Given the description of an element on the screen output the (x, y) to click on. 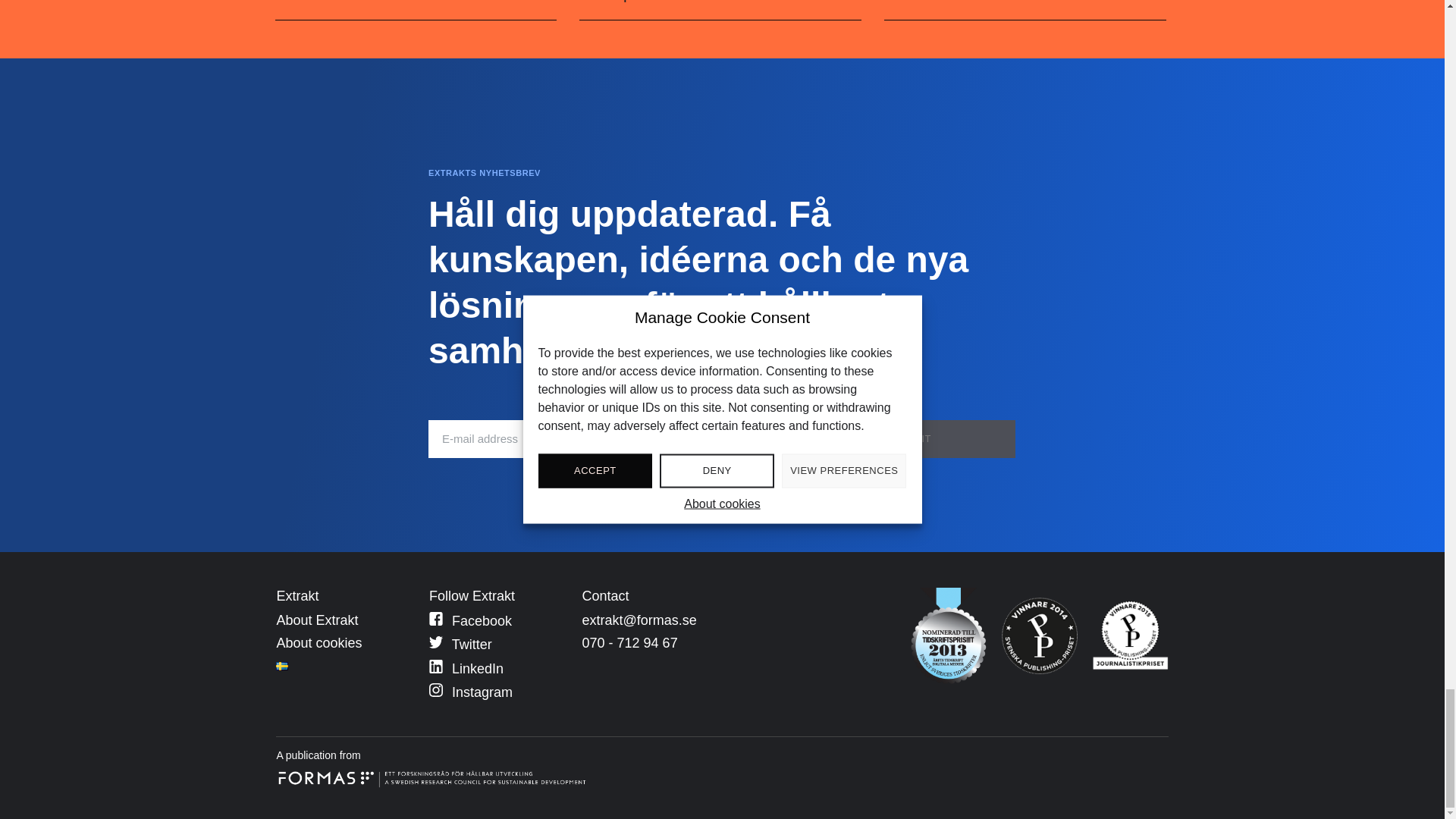
Submit (910, 438)
